Given the description of an element on the screen output the (x, y) to click on. 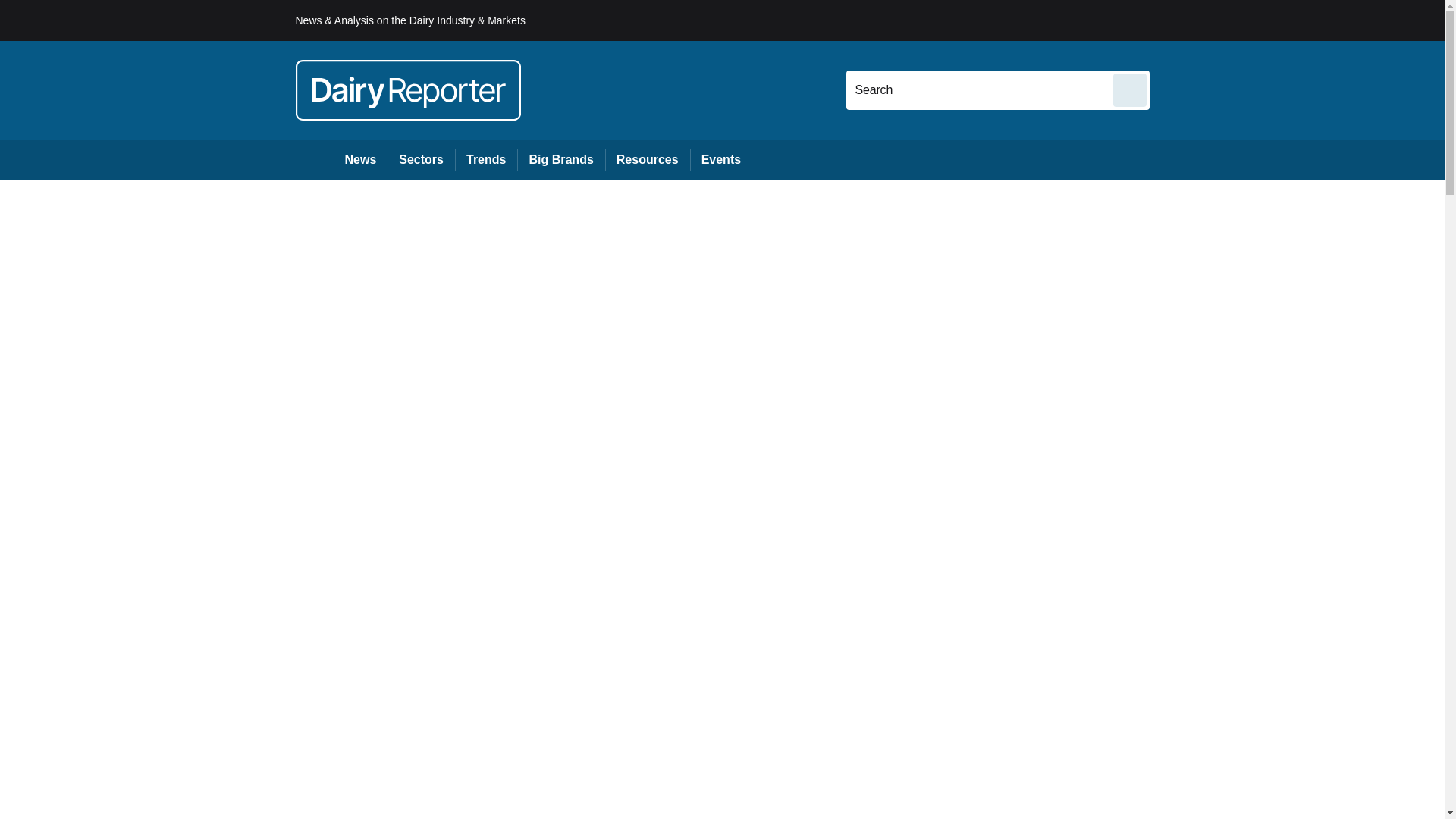
Send (1129, 89)
Send (1129, 90)
DairyReporter (408, 89)
Sectors (420, 159)
REGISTER (1250, 20)
Sign in (1171, 20)
My account (1256, 20)
Sign out (1174, 20)
News (360, 159)
Home (314, 159)
